Given the description of an element on the screen output the (x, y) to click on. 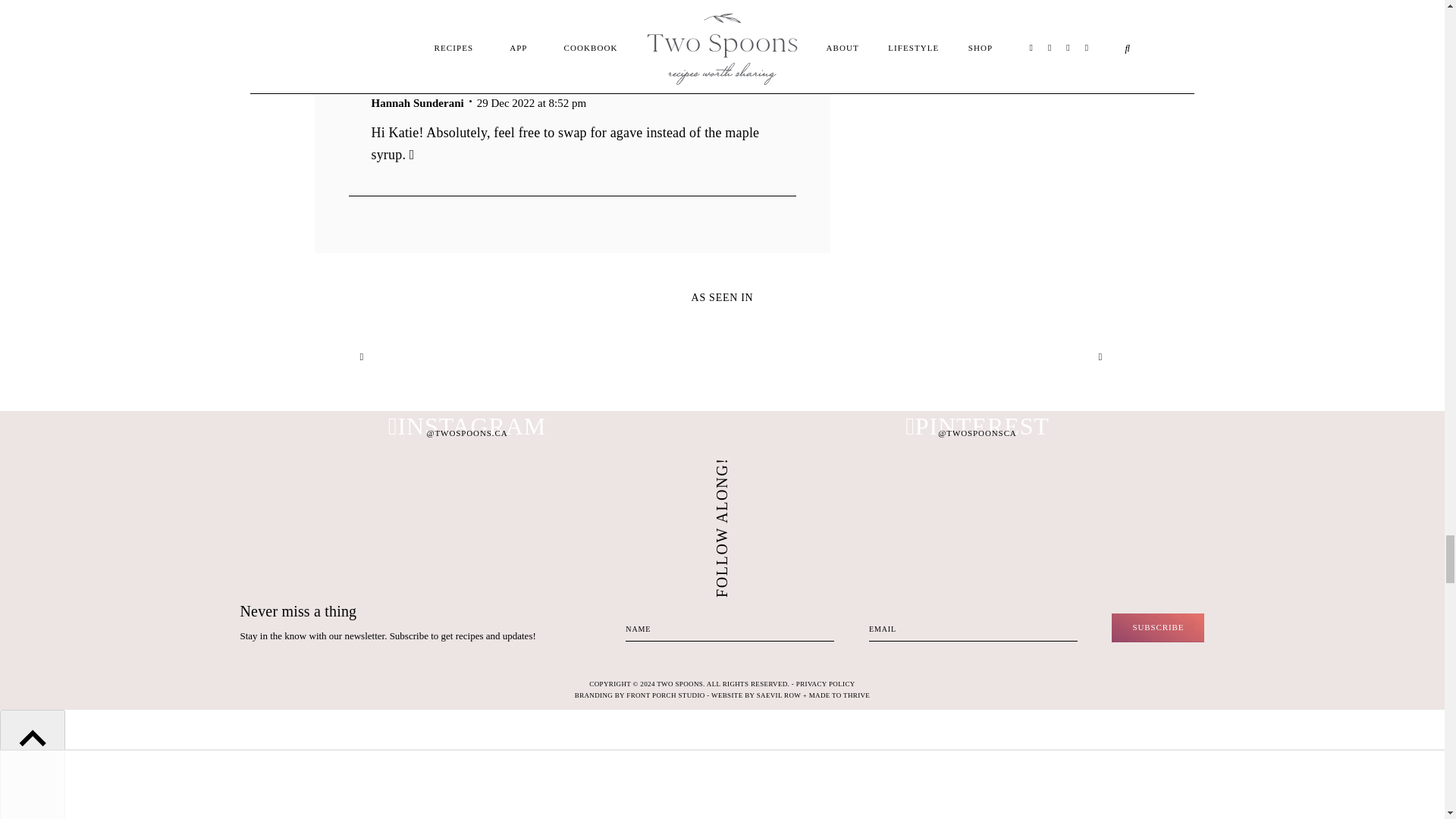
Hannah Sunderani (417, 102)
29 Dec 2022 at 8:52 pm (531, 102)
23 Dec 2022 at 1:11 pm (442, 22)
